Given the description of an element on the screen output the (x, y) to click on. 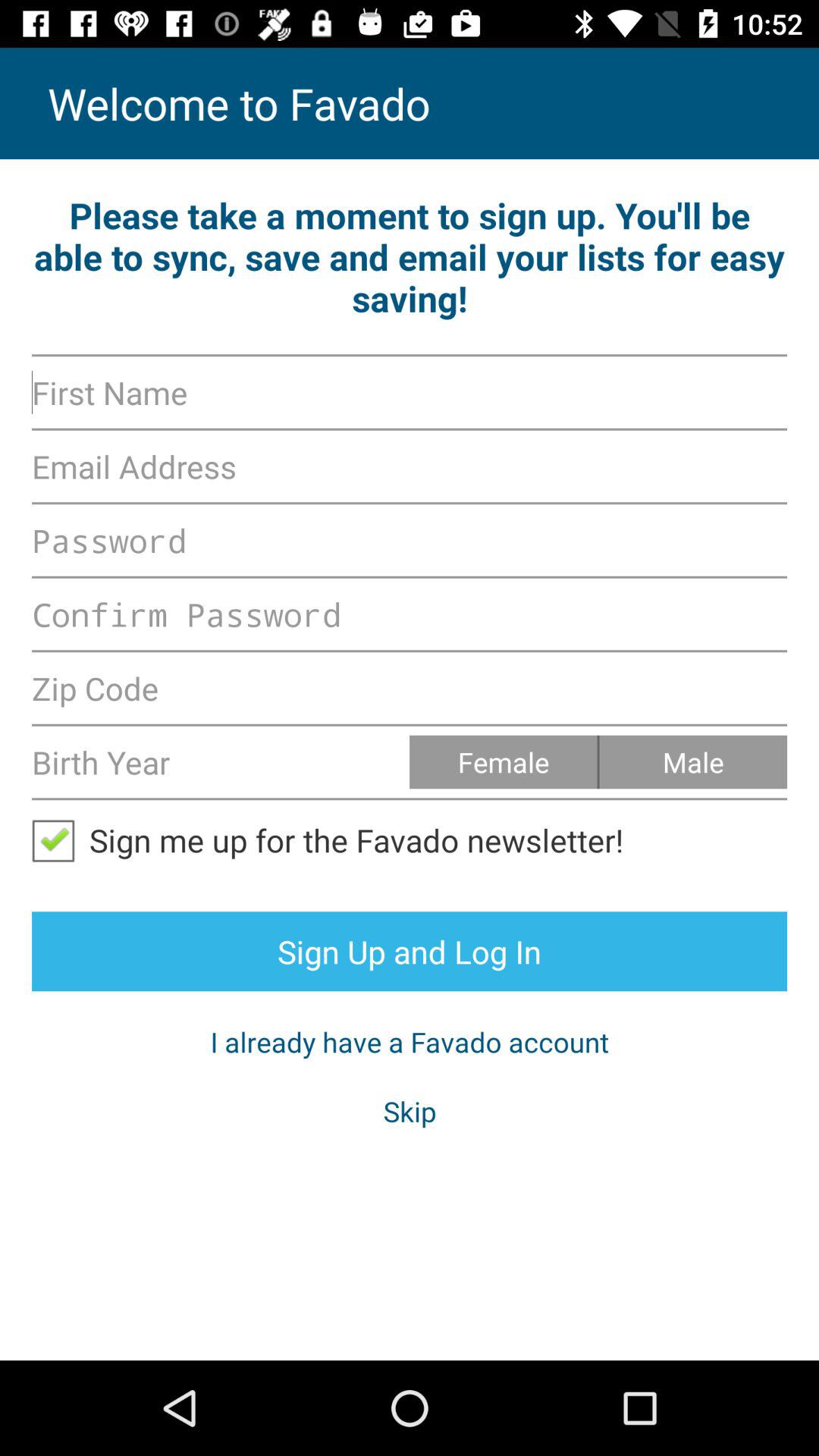
year of birth (220, 761)
